Given the description of an element on the screen output the (x, y) to click on. 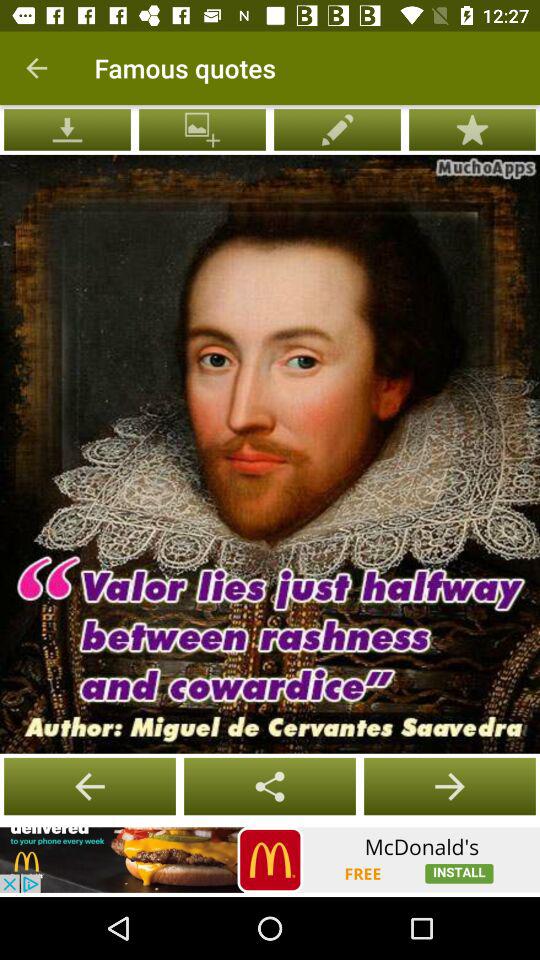
open advertisement (270, 859)
